Given the description of an element on the screen output the (x, y) to click on. 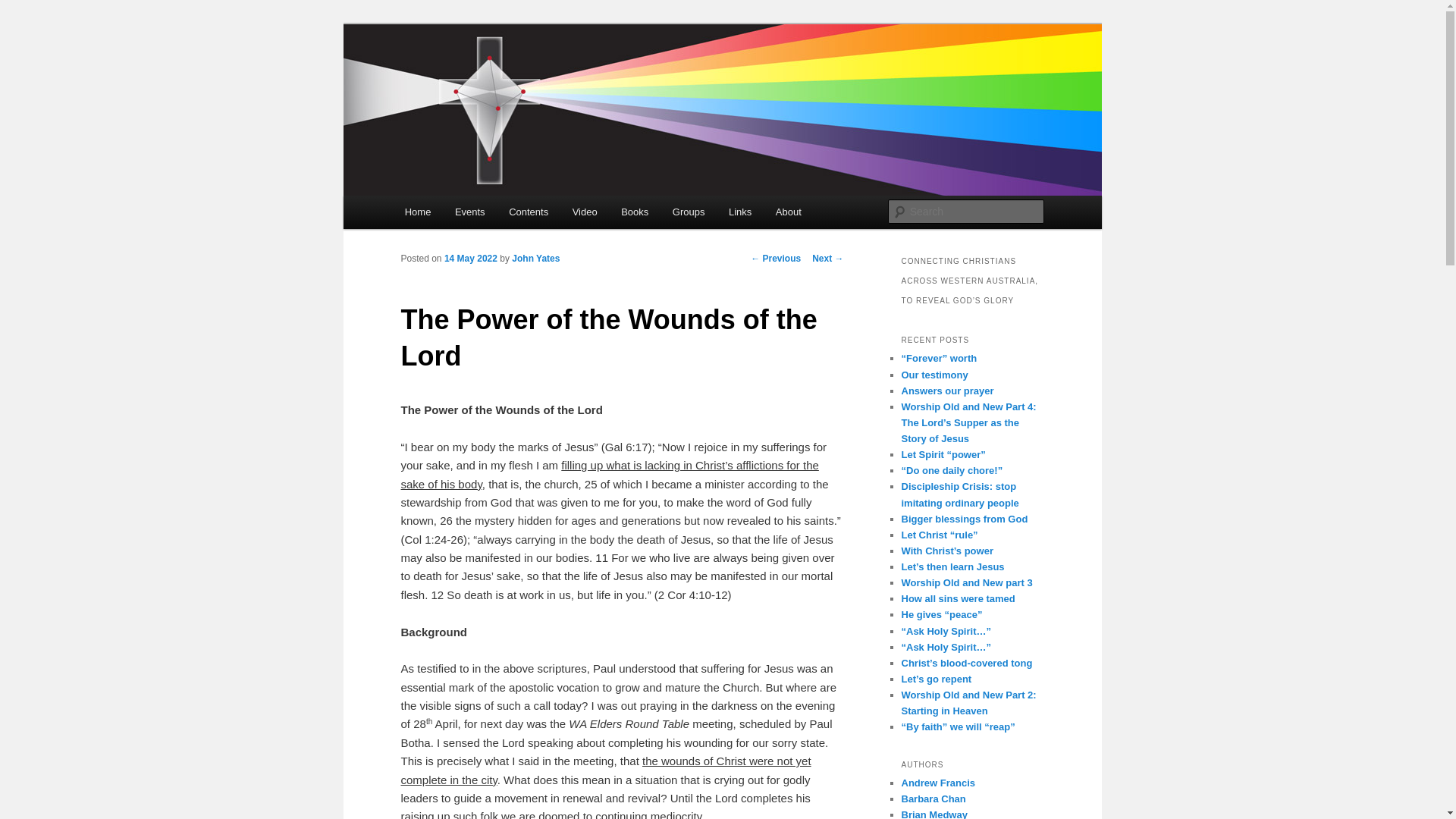
Our testimony Element type: text (933, 374)
Video Element type: text (584, 211)
Links Element type: text (739, 211)
About Element type: text (787, 211)
Home Element type: text (417, 211)
Barbara Chan Element type: text (932, 798)
Andrew Francis Element type: text (937, 782)
Bigger blessings from God Element type: text (963, 518)
How all sins were tamed Element type: text (957, 598)
Worship Old and New part 3 Element type: text (966, 582)
Skip to primary content Element type: text (472, 214)
Answers our prayer Element type: text (946, 390)
Events Element type: text (469, 211)
Search Element type: text (24, 8)
Skip to secondary content Element type: text (479, 214)
Cross Connect Element type: text (480, 78)
14 May 2022 Element type: text (470, 258)
Contents Element type: text (528, 211)
Books Element type: text (634, 211)
Discipleship Crisis: stop imitating ordinary people Element type: text (959, 494)
Groups Element type: text (688, 211)
John Yates Element type: text (535, 258)
Worship Old and New Part 2: Starting in Heaven Element type: text (967, 702)
